Given the description of an element on the screen output the (x, y) to click on. 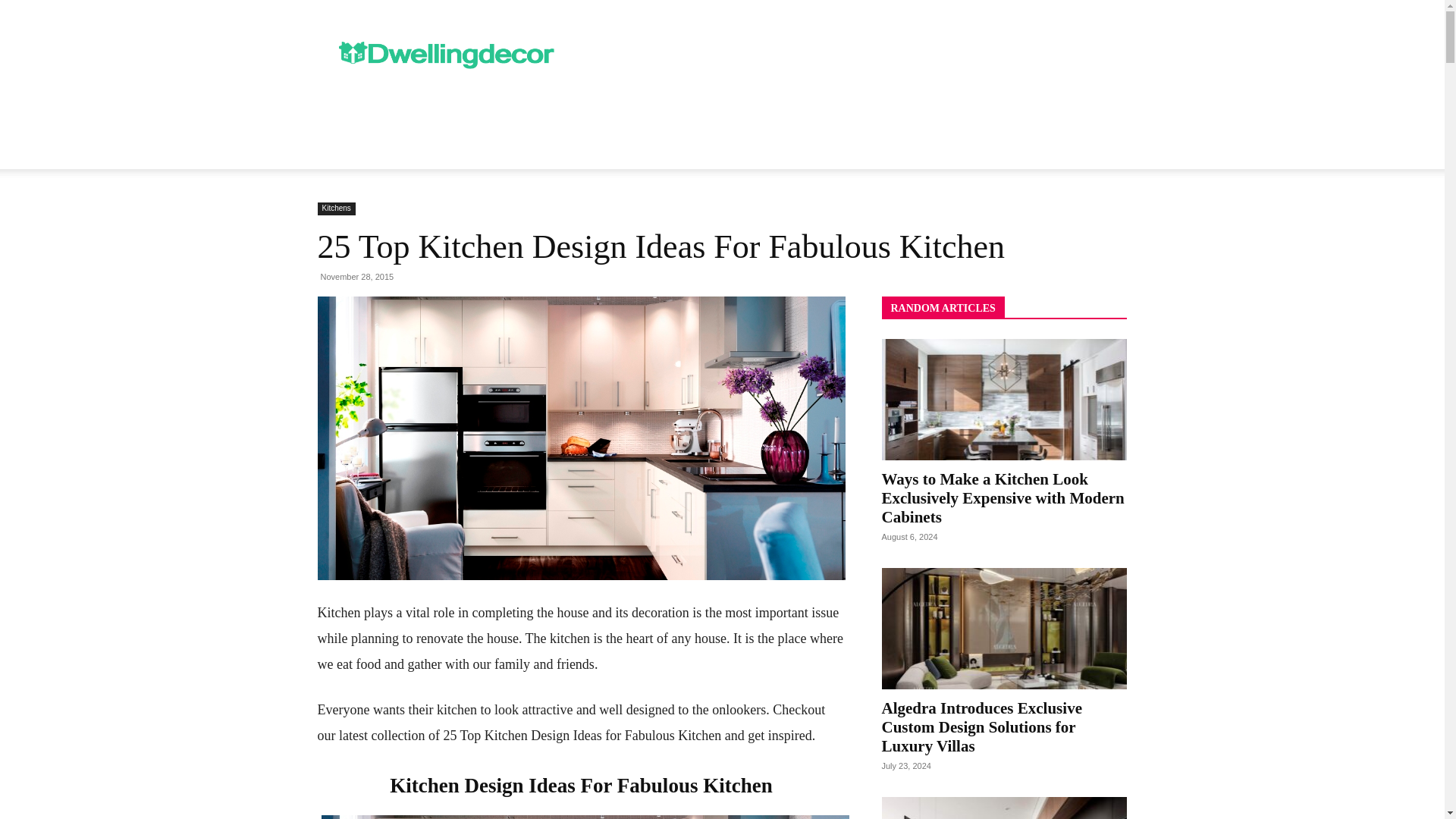
Kitchens (336, 208)
KITCHEN (724, 114)
ARCHITECTURE (371, 114)
DINING (616, 114)
DIY (667, 114)
Search (1085, 174)
BEDROOM (549, 114)
LIVING ROOM (808, 114)
BATHROOM (468, 114)
